Given the description of an element on the screen output the (x, y) to click on. 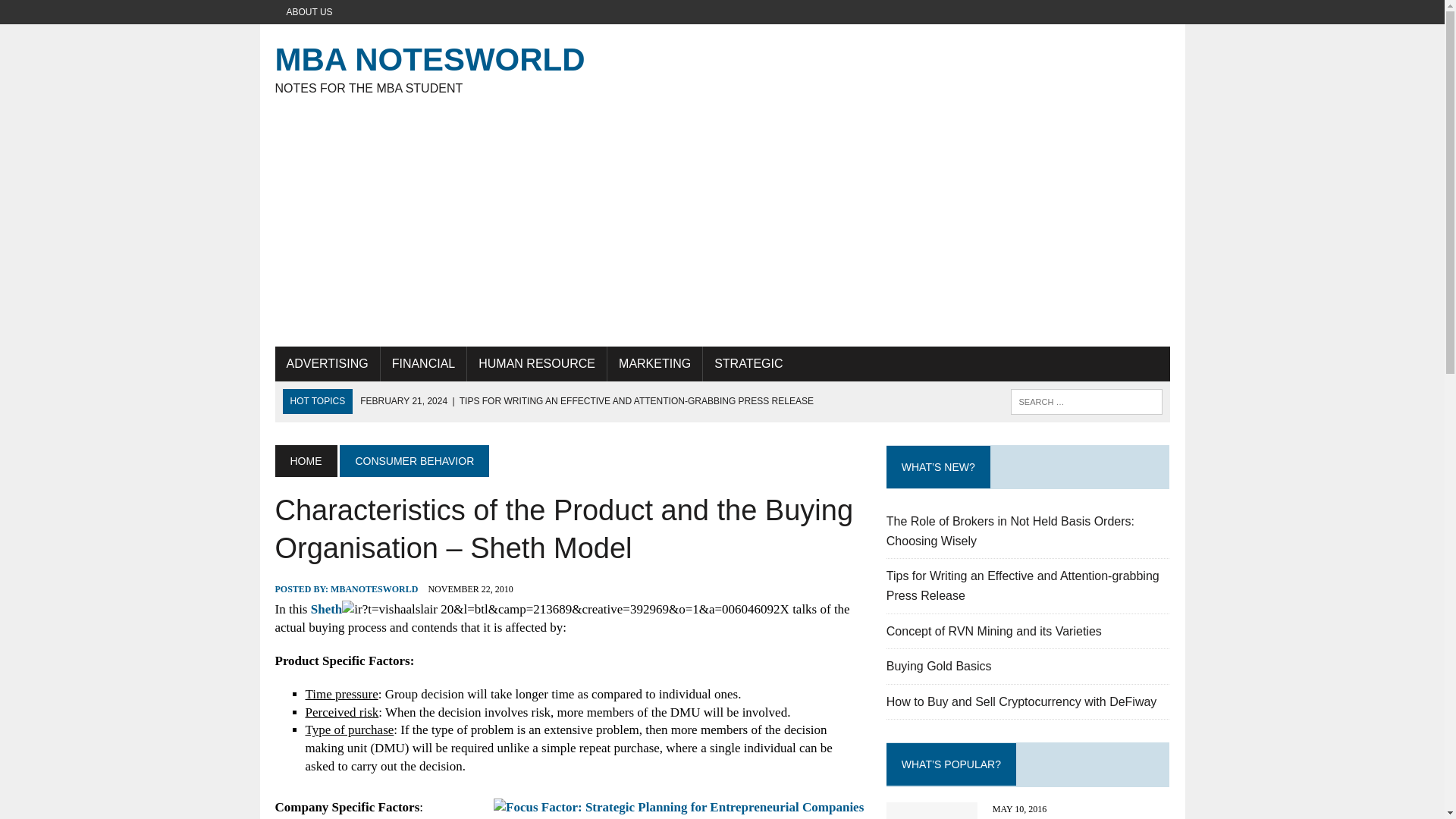
HUMAN RESOURCE (537, 363)
STRATEGIC (748, 363)
Search (75, 14)
Sheth (326, 608)
CONSUMER BEHAVIOR (414, 460)
HOME (305, 460)
